Given the description of an element on the screen output the (x, y) to click on. 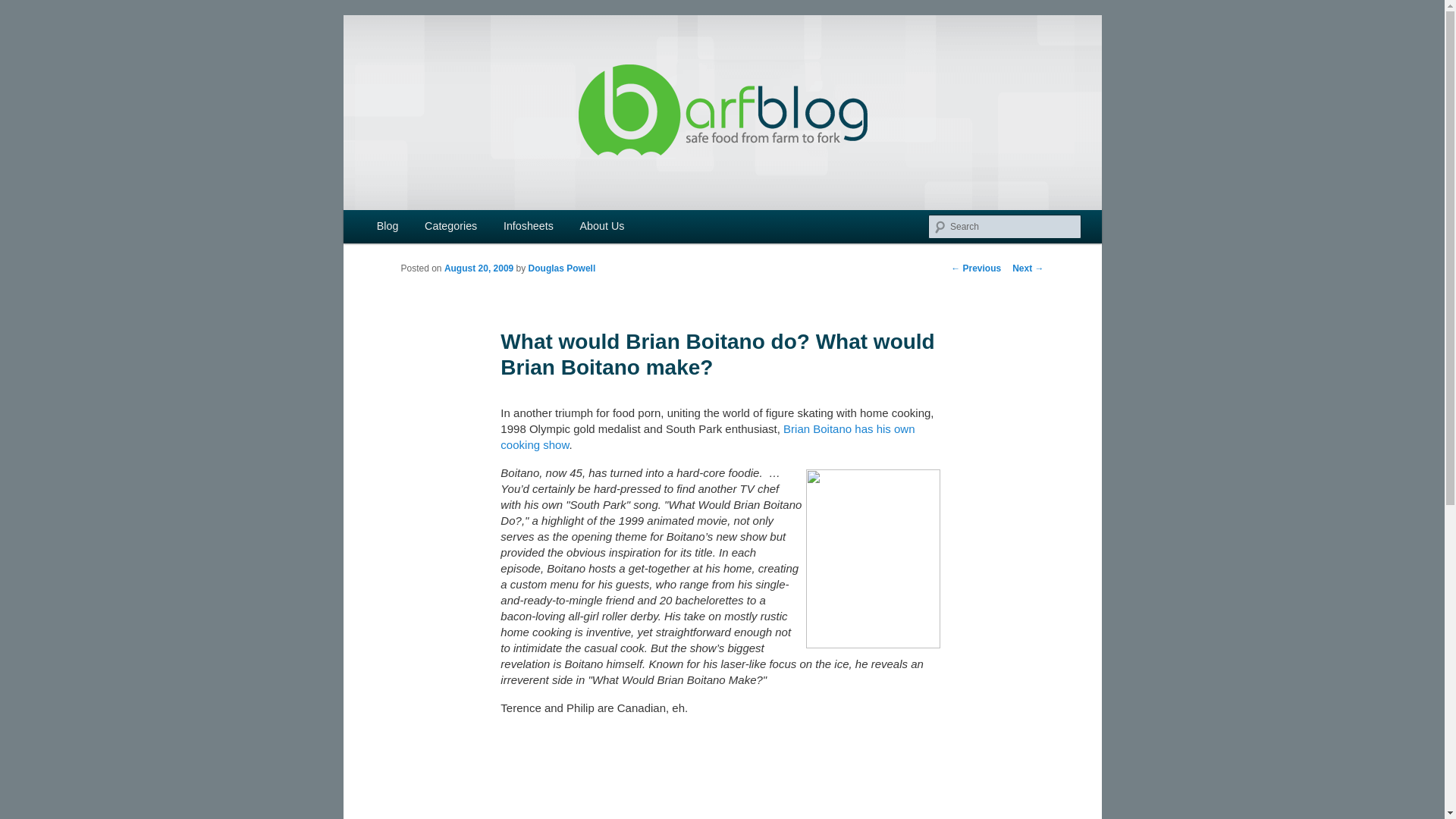
Skip to primary content (414, 227)
barfblog (446, 69)
About Us (601, 225)
Skip to secondary content (421, 227)
Search (24, 8)
barfblog (446, 69)
Brian Boitano has his own cooking show (707, 436)
View all posts by Douglas Powell (561, 267)
Douglas Powell (561, 267)
Skip to secondary content (421, 227)
